Given the description of an element on the screen output the (x, y) to click on. 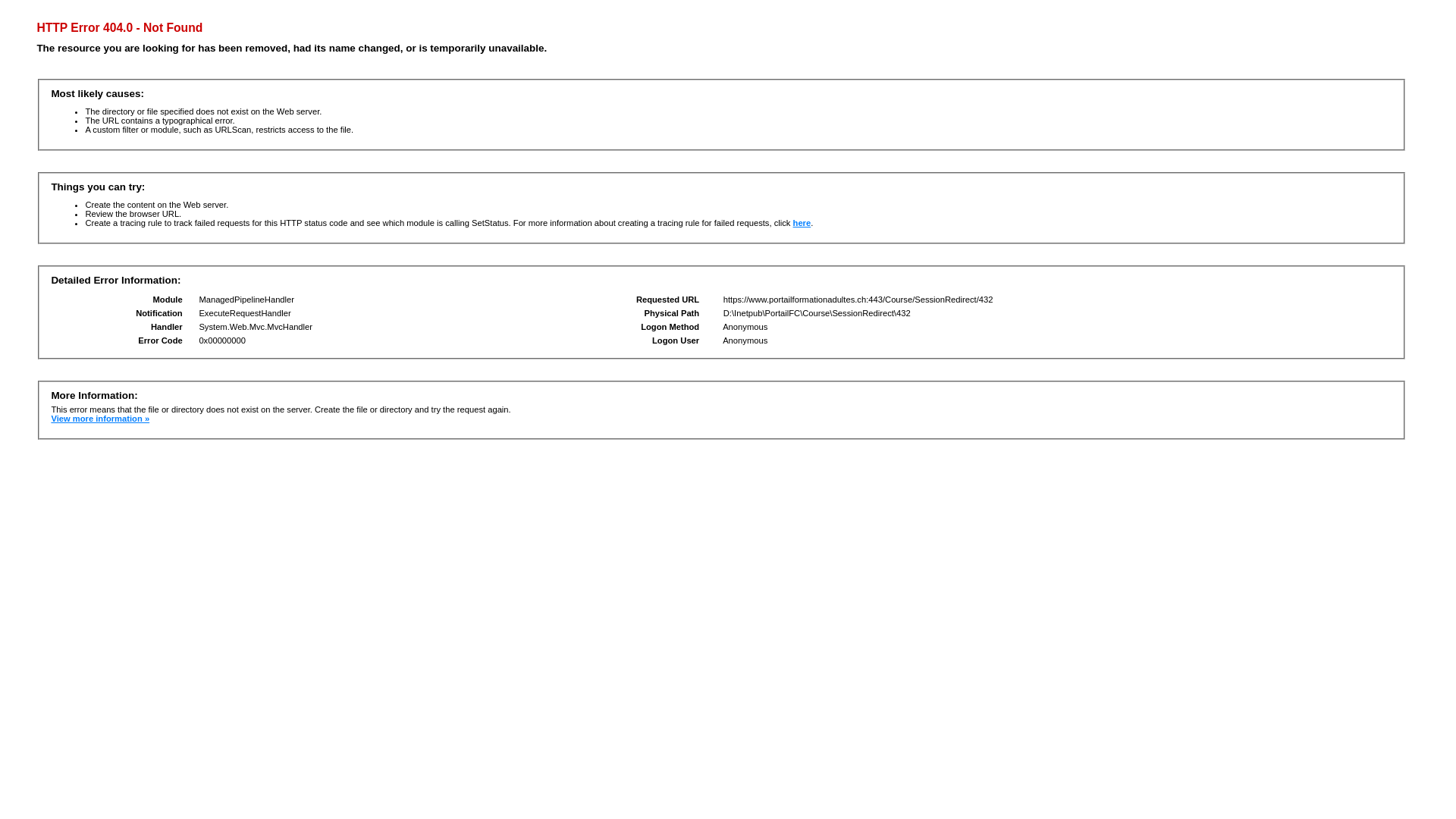
here Element type: text (802, 222)
